Given the description of an element on the screen output the (x, y) to click on. 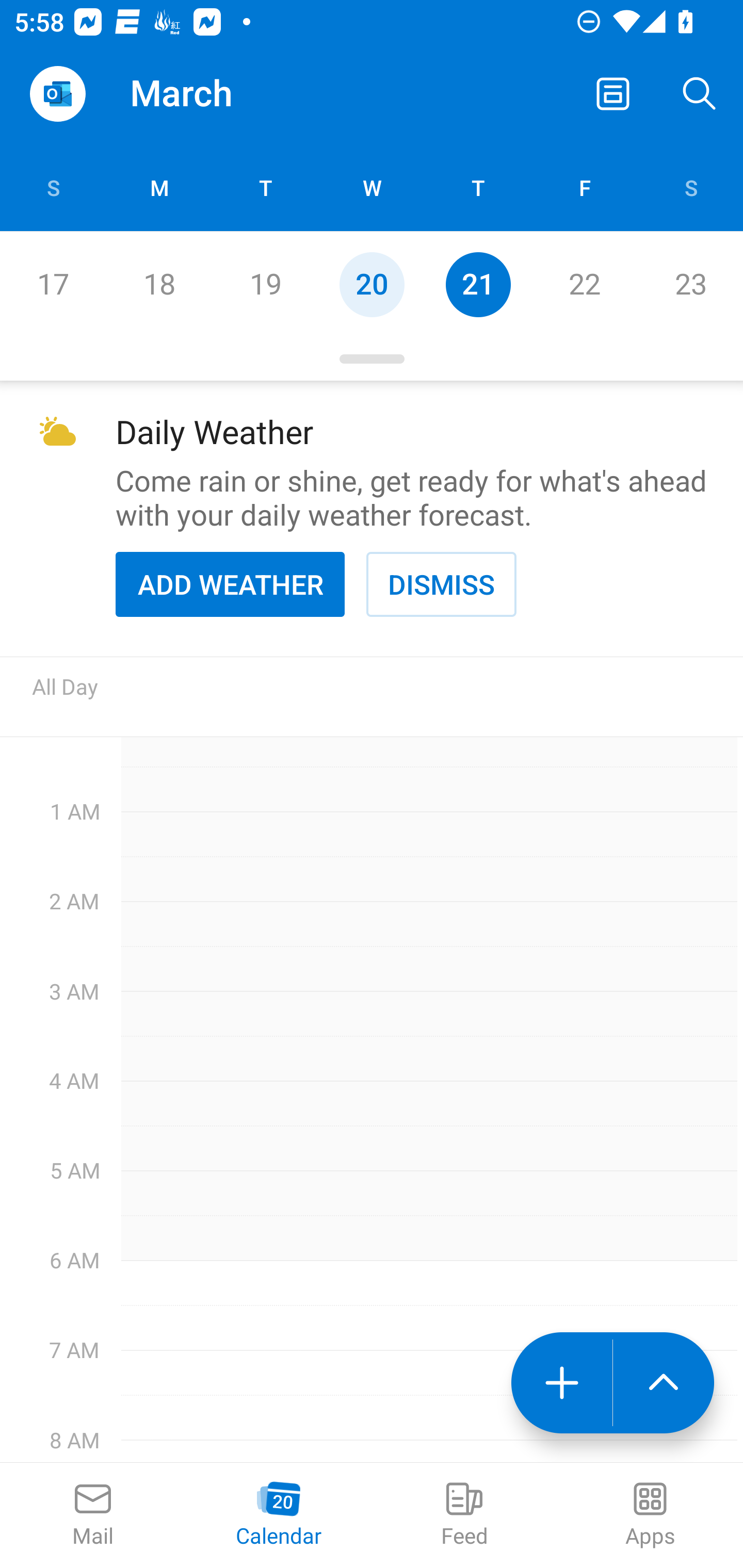
March March 2024, day picker (209, 93)
Switch away from Day view (612, 93)
Search, ,  (699, 93)
Open Navigation Drawer (57, 94)
17 Sunday, March 17 (53, 284)
18 Monday, March 18 (159, 284)
19 Tuesday, March 19 (265, 284)
20 Wednesday, March 20, today (371, 284)
21 Thursday, March 21, Selected (477, 284)
22 Friday, March 22 (584, 284)
23 Saturday, March 23 (690, 284)
Day picker (371, 359)
ADD WEATHER (230, 583)
DISMISS (440, 583)
New event (561, 1382)
launch the extended action menu (663, 1382)
Mail (92, 1515)
Feed (464, 1515)
Apps (650, 1515)
